Given the description of an element on the screen output the (x, y) to click on. 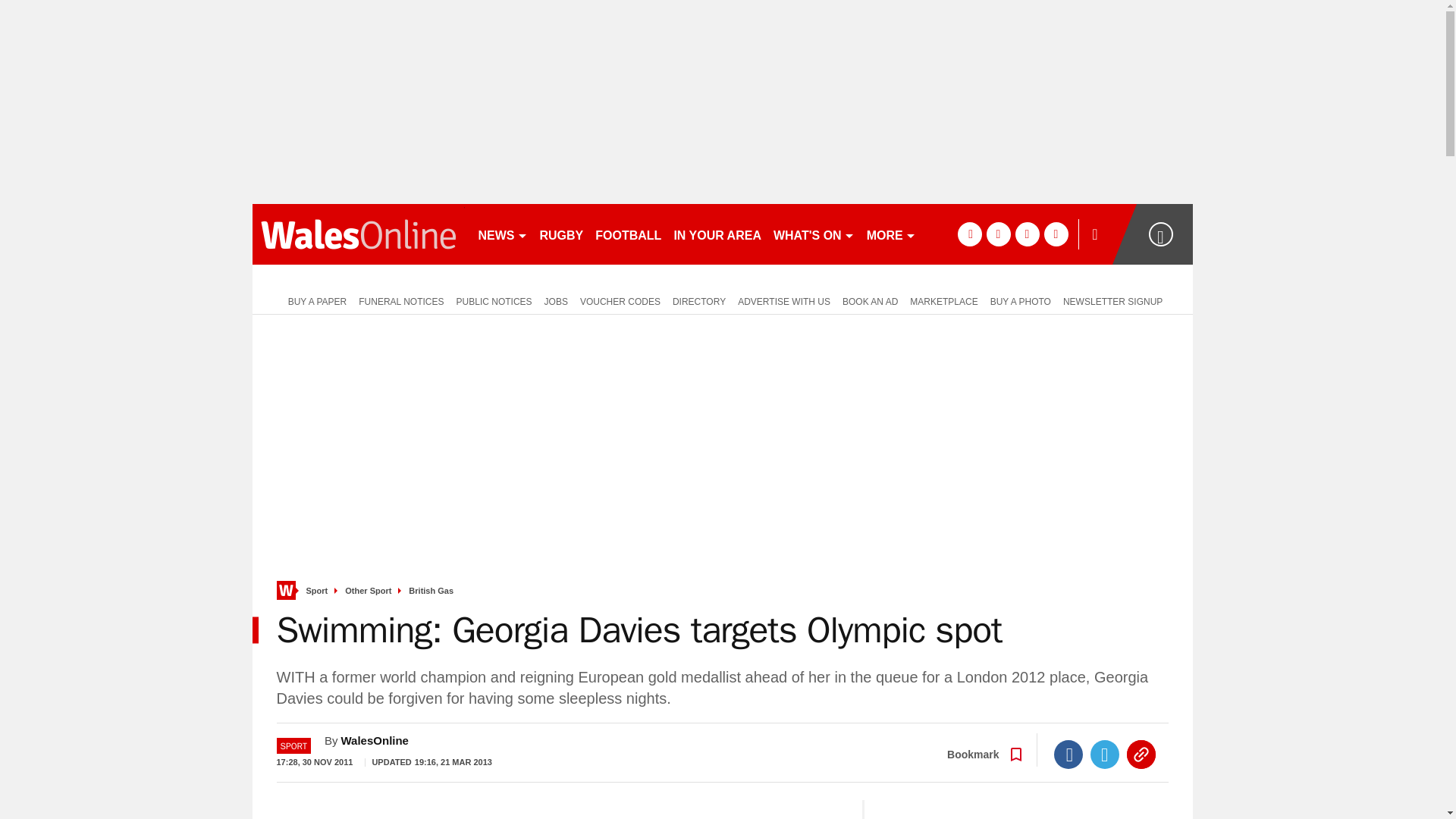
walesonline (357, 233)
facebook (968, 233)
WHAT'S ON (813, 233)
twitter (997, 233)
RUGBY (561, 233)
IN YOUR AREA (716, 233)
Facebook (1068, 754)
NEWS (501, 233)
FOOTBALL (627, 233)
MORE (890, 233)
